Given the description of an element on the screen output the (x, y) to click on. 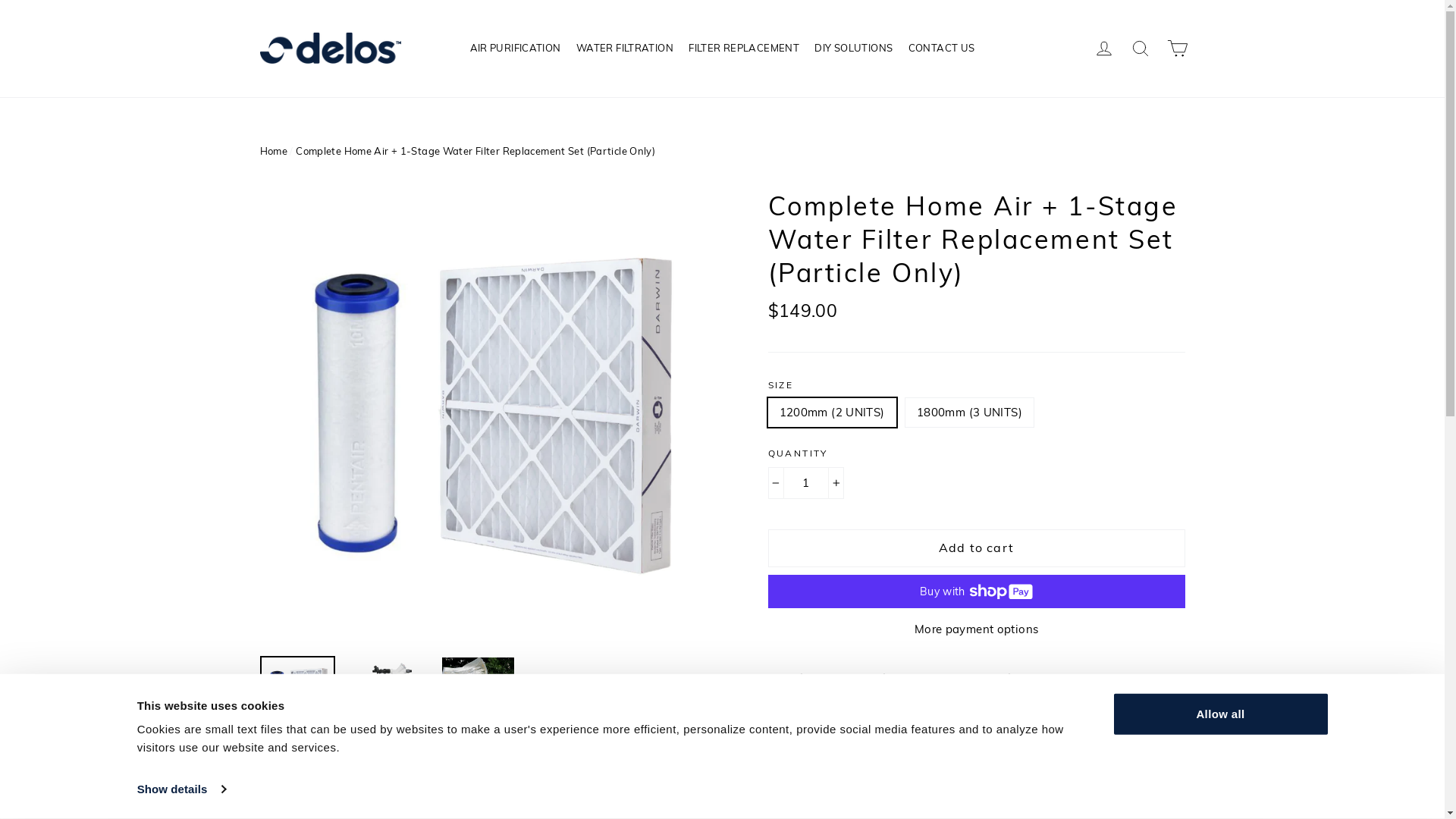
Log in Element type: text (1103, 47)
DIY SOLUTIONS Element type: text (853, 48)
More payment options Element type: text (975, 629)
Cart Element type: text (1176, 47)
FILTER REPLACEMENT Element type: text (743, 48)
Skip to content Element type: text (0, 0)
WATER FILTRATION Element type: text (624, 48)
CONTACT US Element type: text (941, 48)
Show details Element type: text (181, 789)
AIR PURIFICATION Element type: text (515, 48)
Home Element type: text (273, 150)
Search Element type: text (1140, 47)
Add to cart Element type: text (975, 548)
+ Element type: text (836, 482)
Allow all Element type: text (1219, 714)
